Given the description of an element on the screen output the (x, y) to click on. 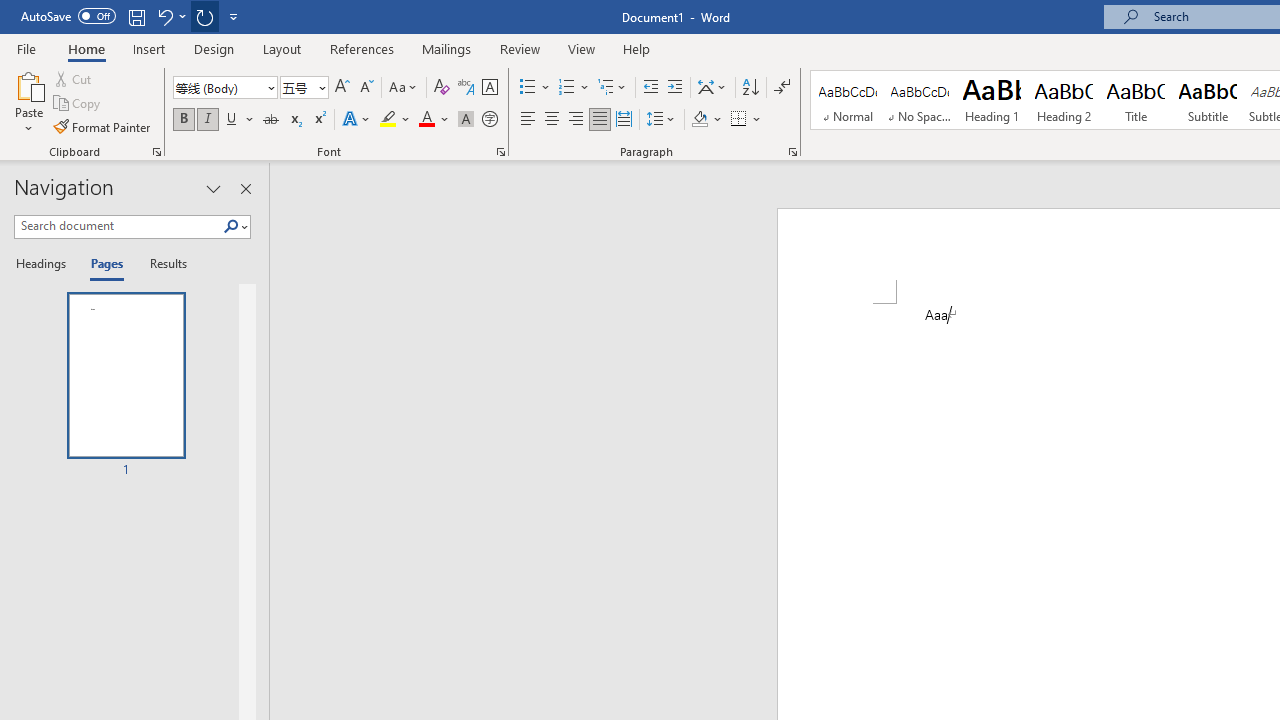
Text Highlight Color (395, 119)
Task Pane Options (214, 188)
Title (1135, 100)
Design (214, 48)
Mailings (447, 48)
Repeat Style (204, 15)
Search (231, 227)
Numbering (573, 87)
Superscript (319, 119)
Strikethrough (270, 119)
Subtitle (1208, 100)
Increase Indent (675, 87)
Copy (78, 103)
Decrease Indent (650, 87)
